Given the description of an element on the screen output the (x, y) to click on. 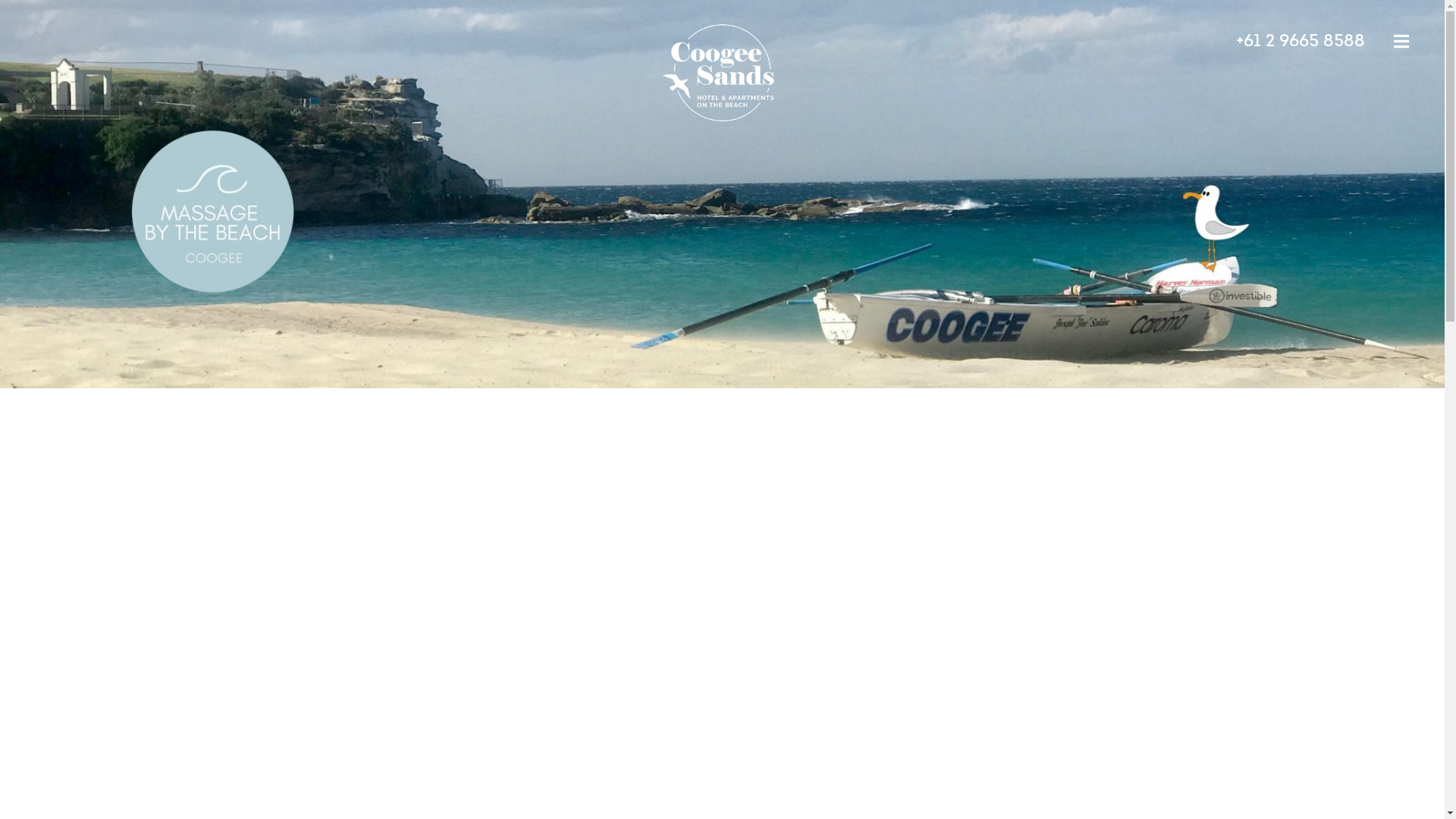
+61 2 9665 8588 Element type: text (1300, 41)
+61 2 9665 8588 Element type: text (1235, 177)
